Given the description of an element on the screen output the (x, y) to click on. 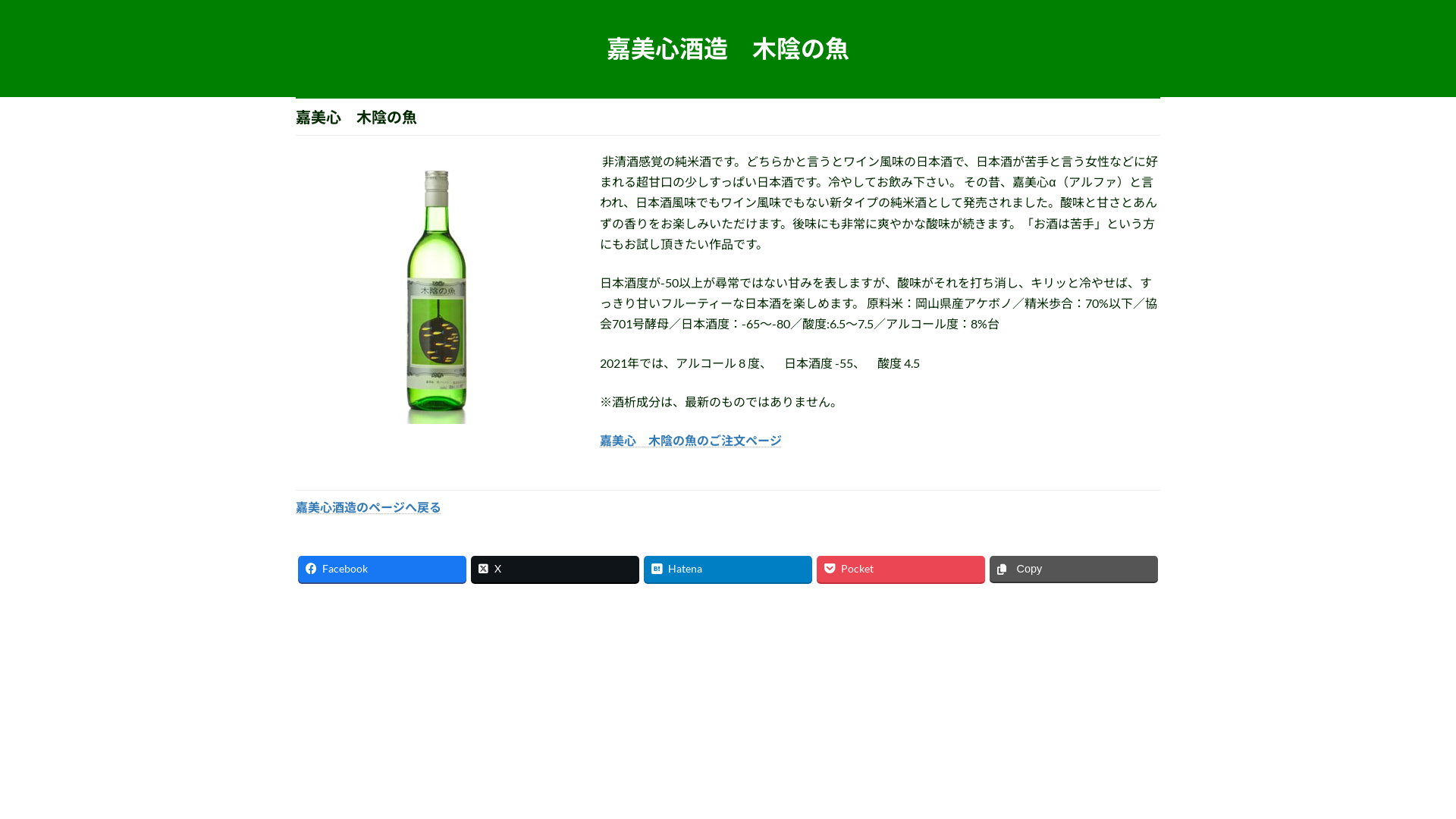
Facebook Element type: text (382, 568)
X Element type: text (554, 568)
Hatena Element type: text (727, 568)
Copy Element type: text (1073, 568)
Pocket Element type: text (900, 568)
